Given the description of an element on the screen output the (x, y) to click on. 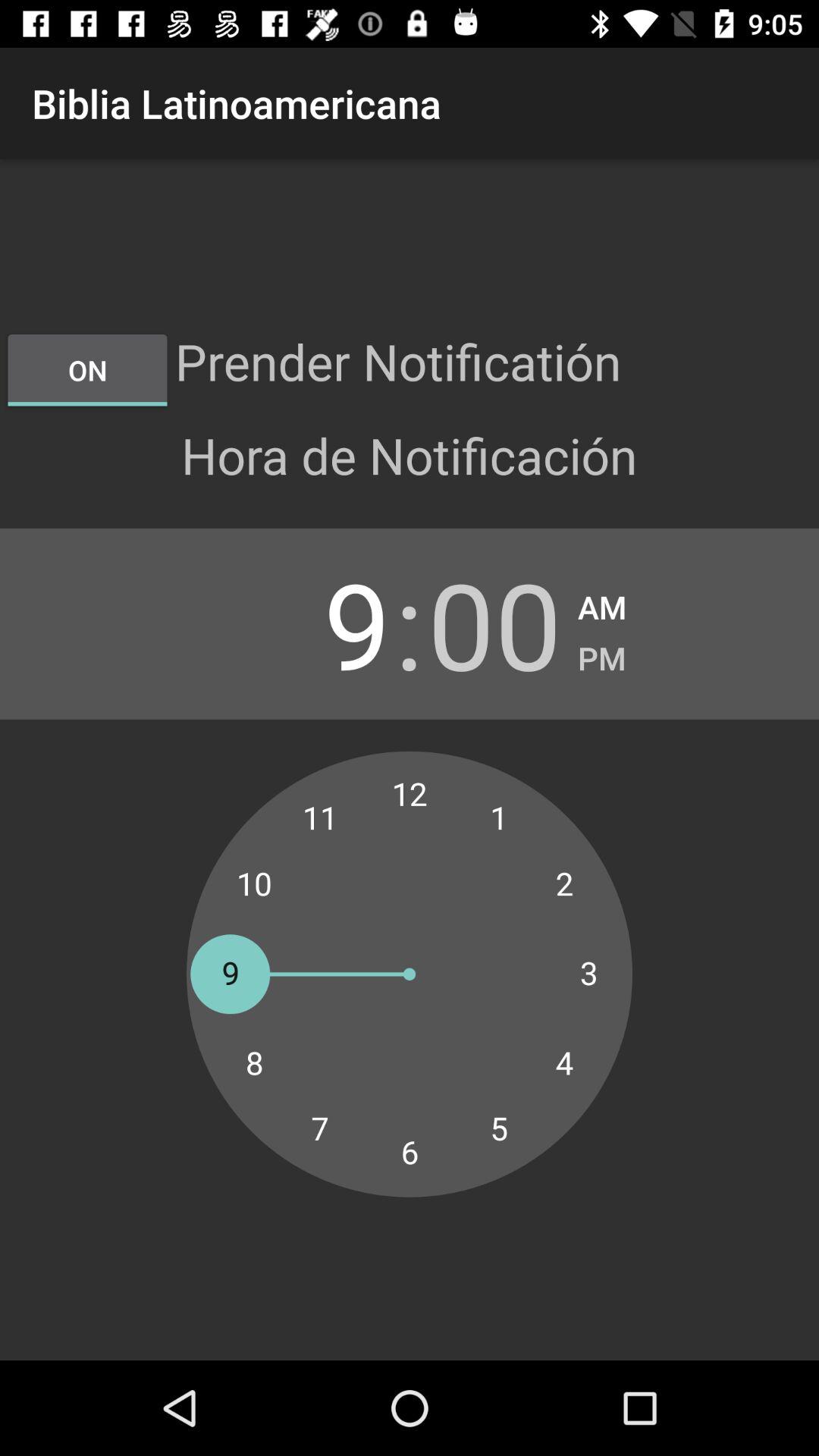
press item next to the 00 item (601, 653)
